Given the description of an element on the screen output the (x, y) to click on. 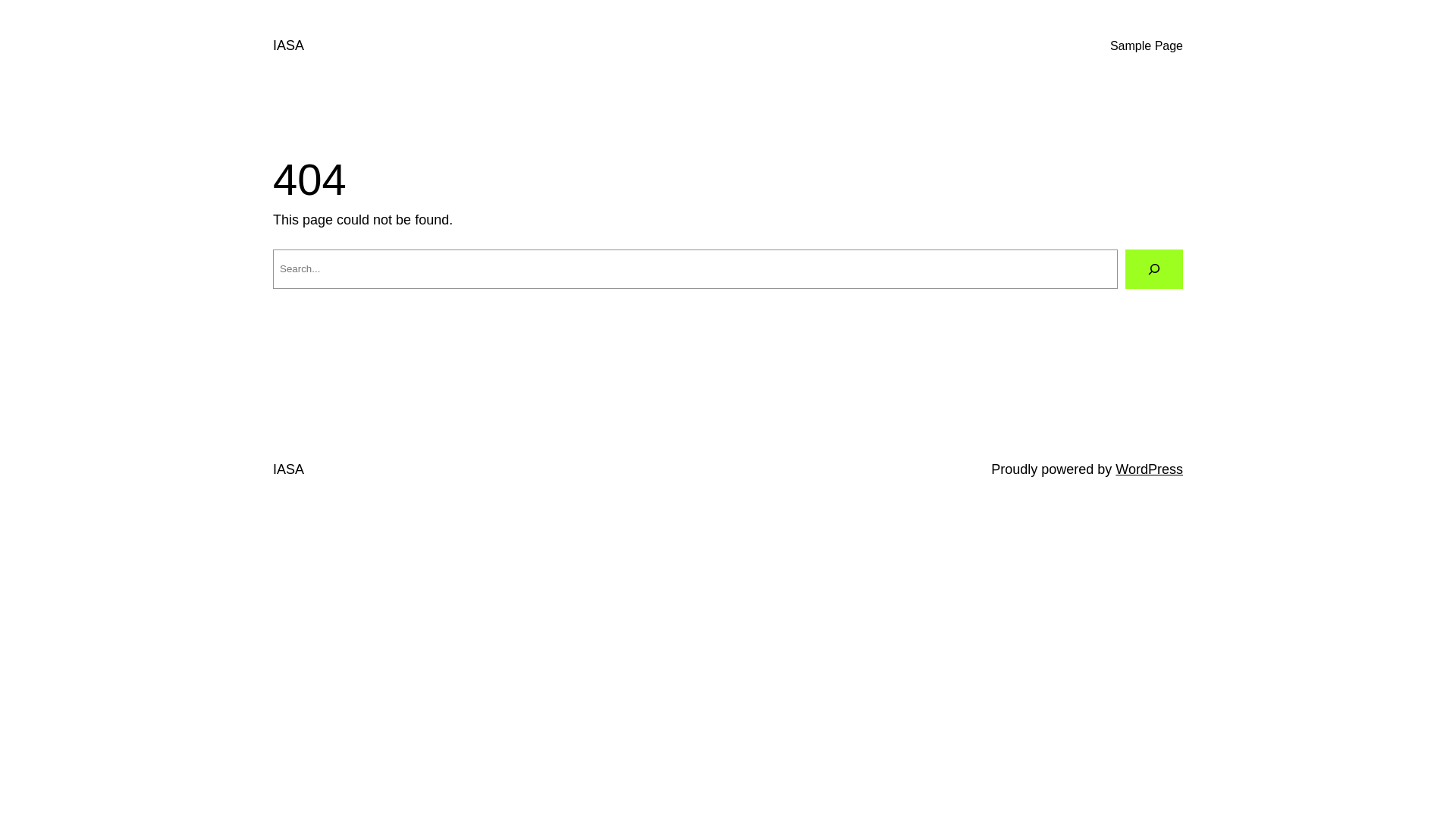
IASA Element type: text (288, 45)
Sample Page Element type: text (1146, 46)
WordPress Element type: text (1149, 468)
IASA Element type: text (288, 468)
